Given the description of an element on the screen output the (x, y) to click on. 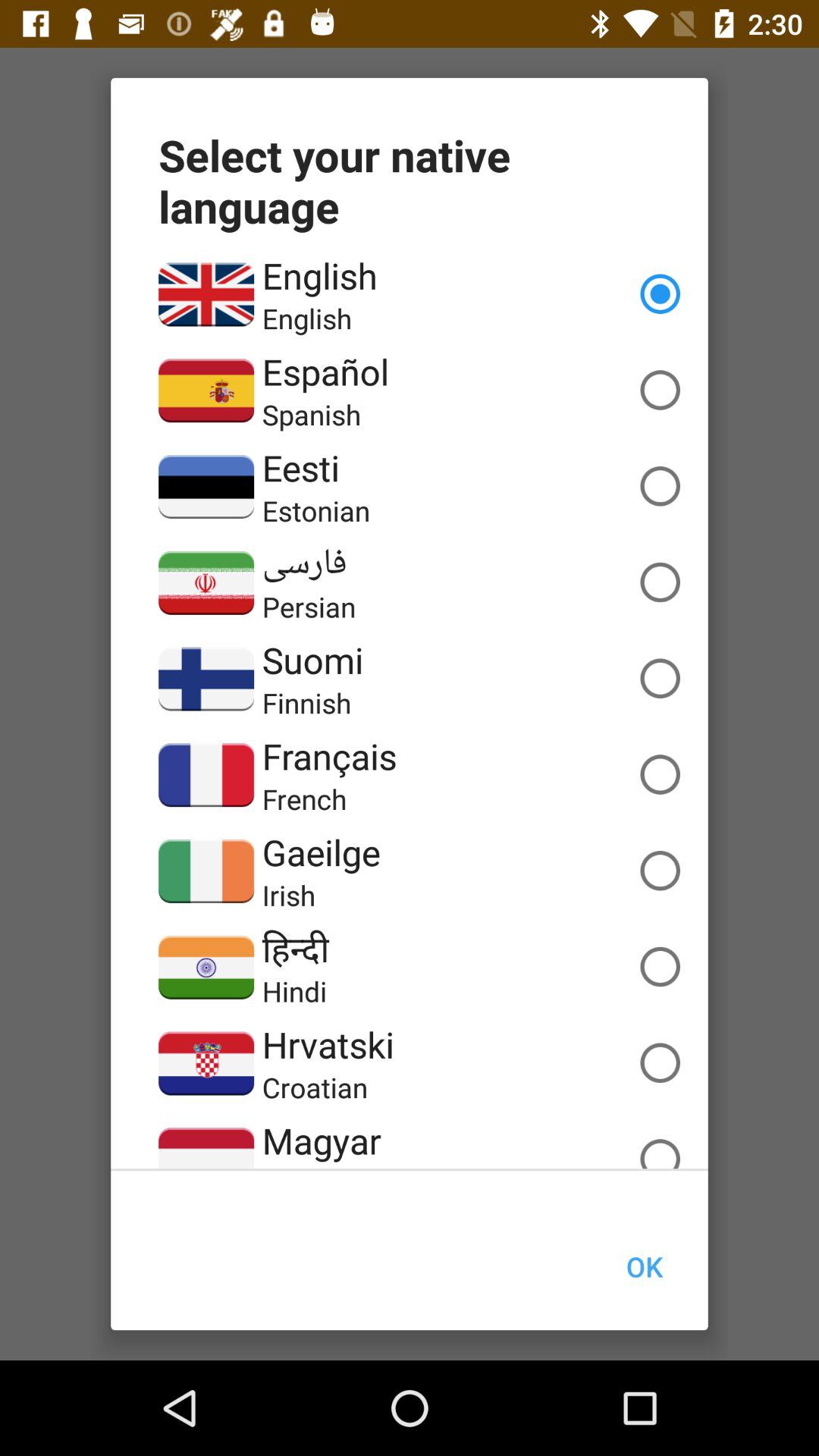
turn on the suomi icon (312, 659)
